Given the description of an element on the screen output the (x, y) to click on. 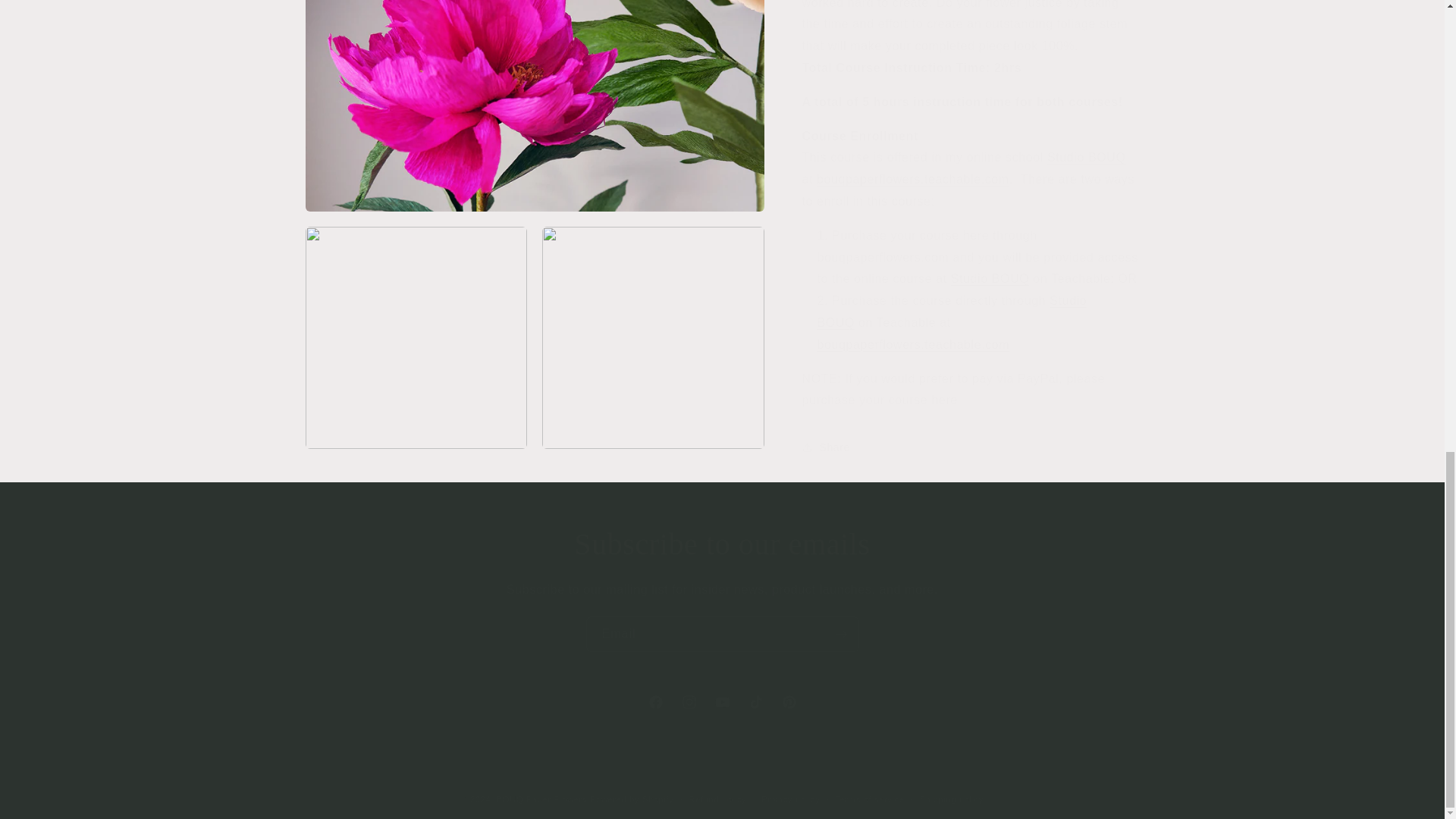
Studio BOUQ (1085, 145)
Subscribe to our emails (721, 544)
bouqpaperflowers.teachable.com (913, 332)
bouqpaperflowers.teachable.com (721, 702)
Studio BOUQ (912, 167)
Email (989, 267)
Studio BOUQ (722, 633)
